Given the description of an element on the screen output the (x, y) to click on. 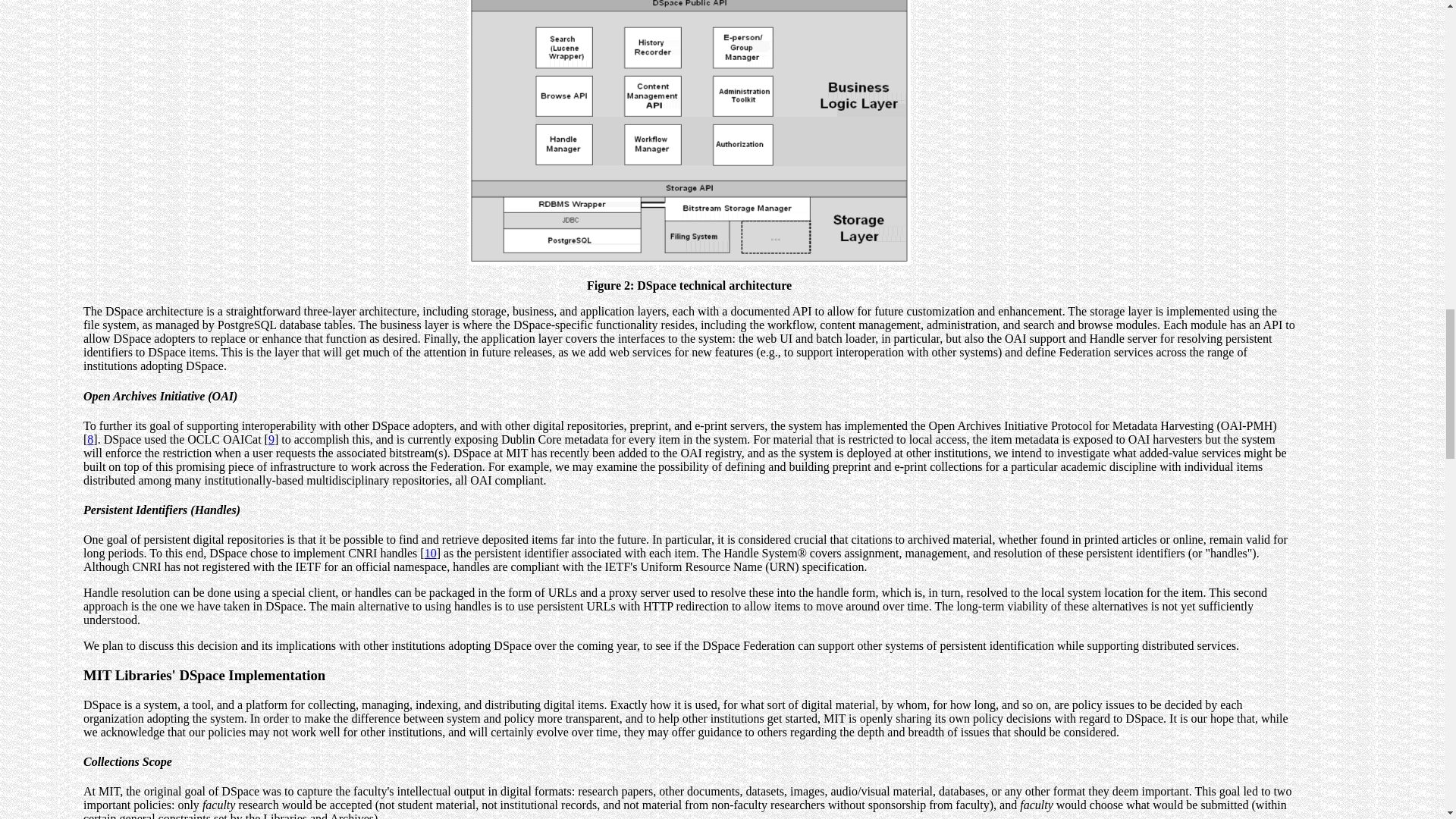
8 (90, 439)
10 (430, 553)
9 (271, 439)
